Given the description of an element on the screen output the (x, y) to click on. 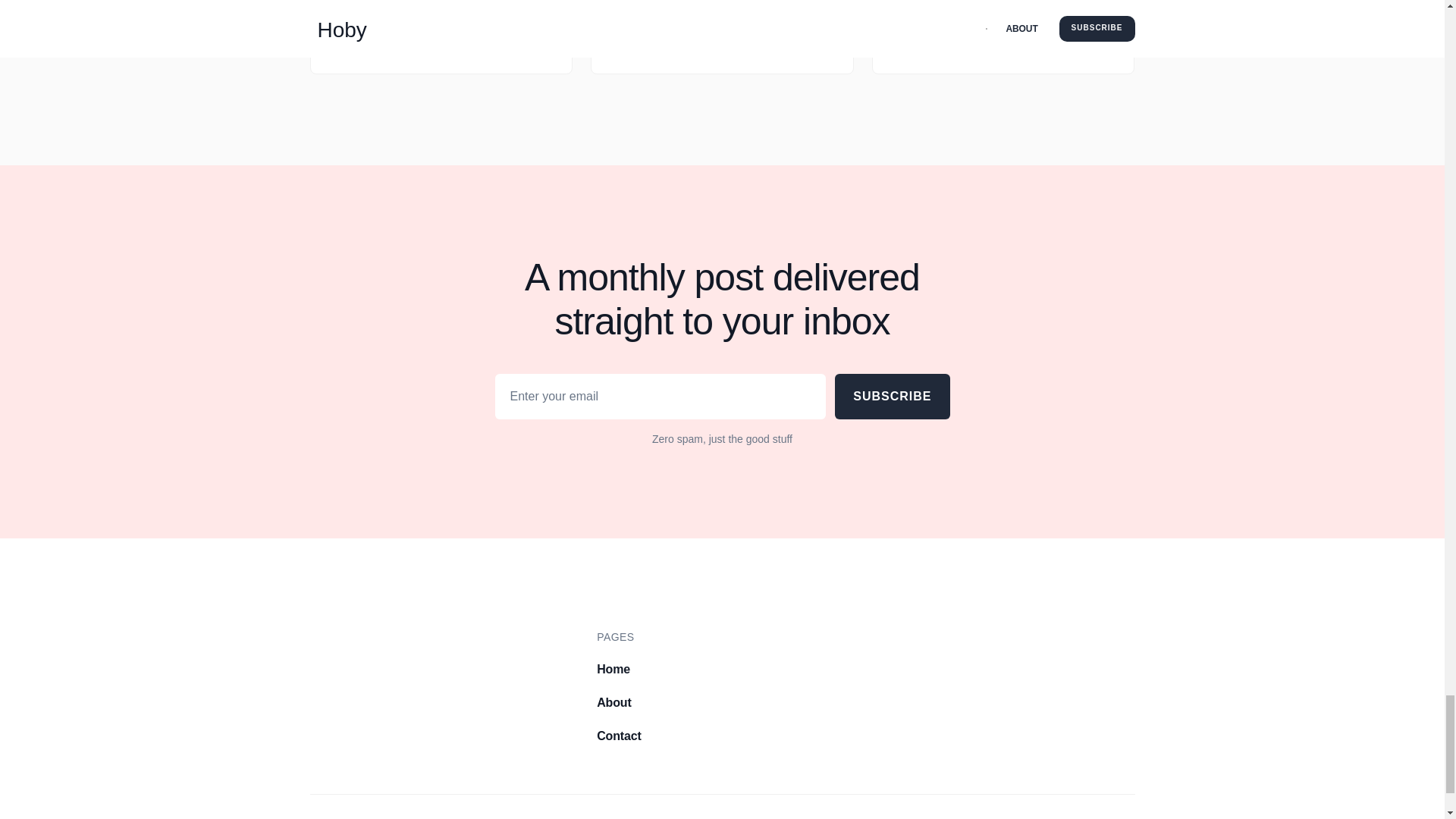
Home (613, 669)
About (613, 702)
Subscribe (891, 396)
Contact (618, 736)
Subscribe (891, 396)
